Given the description of an element on the screen output the (x, y) to click on. 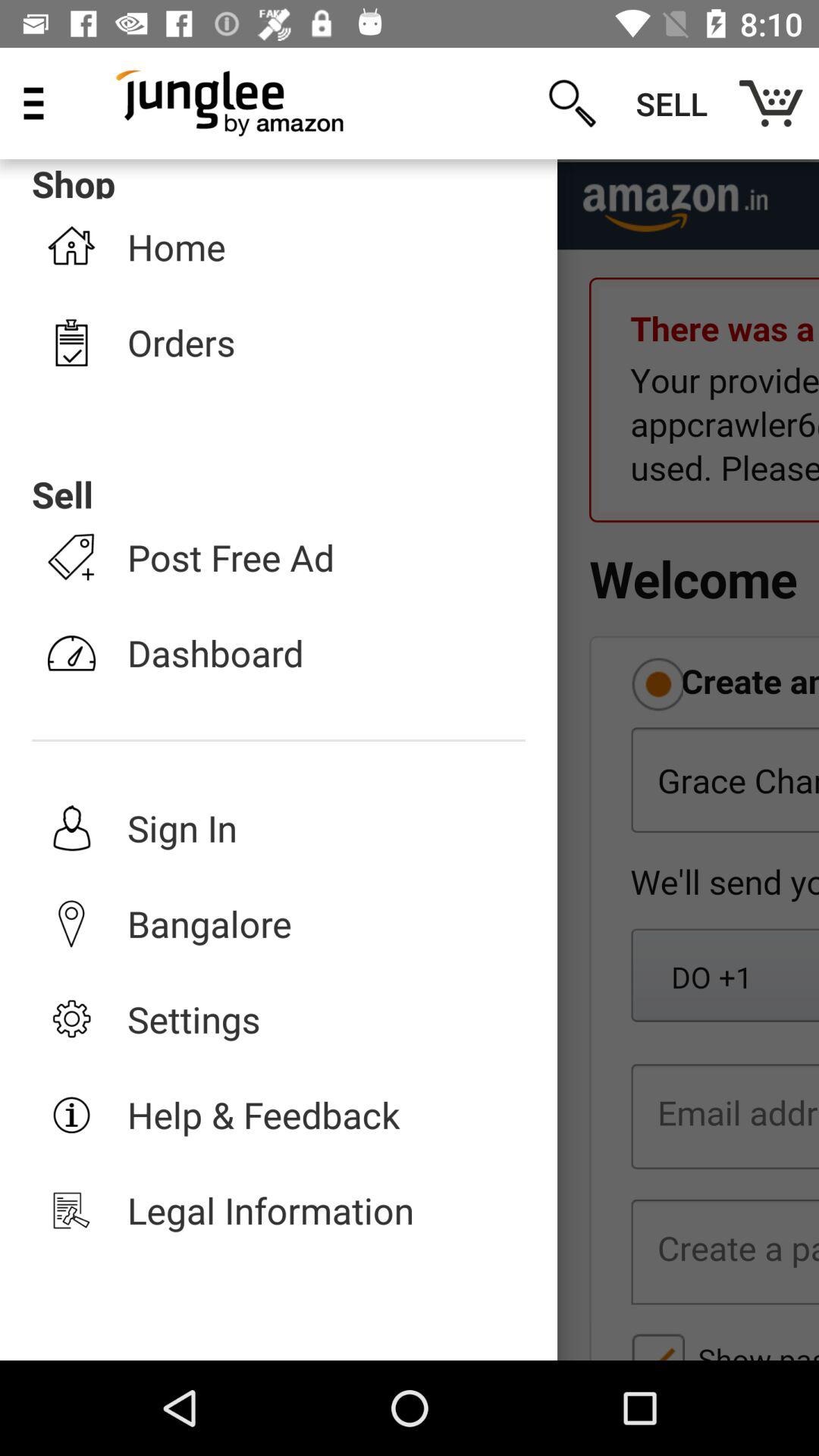
tap item to the right of shop icon (571, 103)
